Given the description of an element on the screen output the (x, y) to click on. 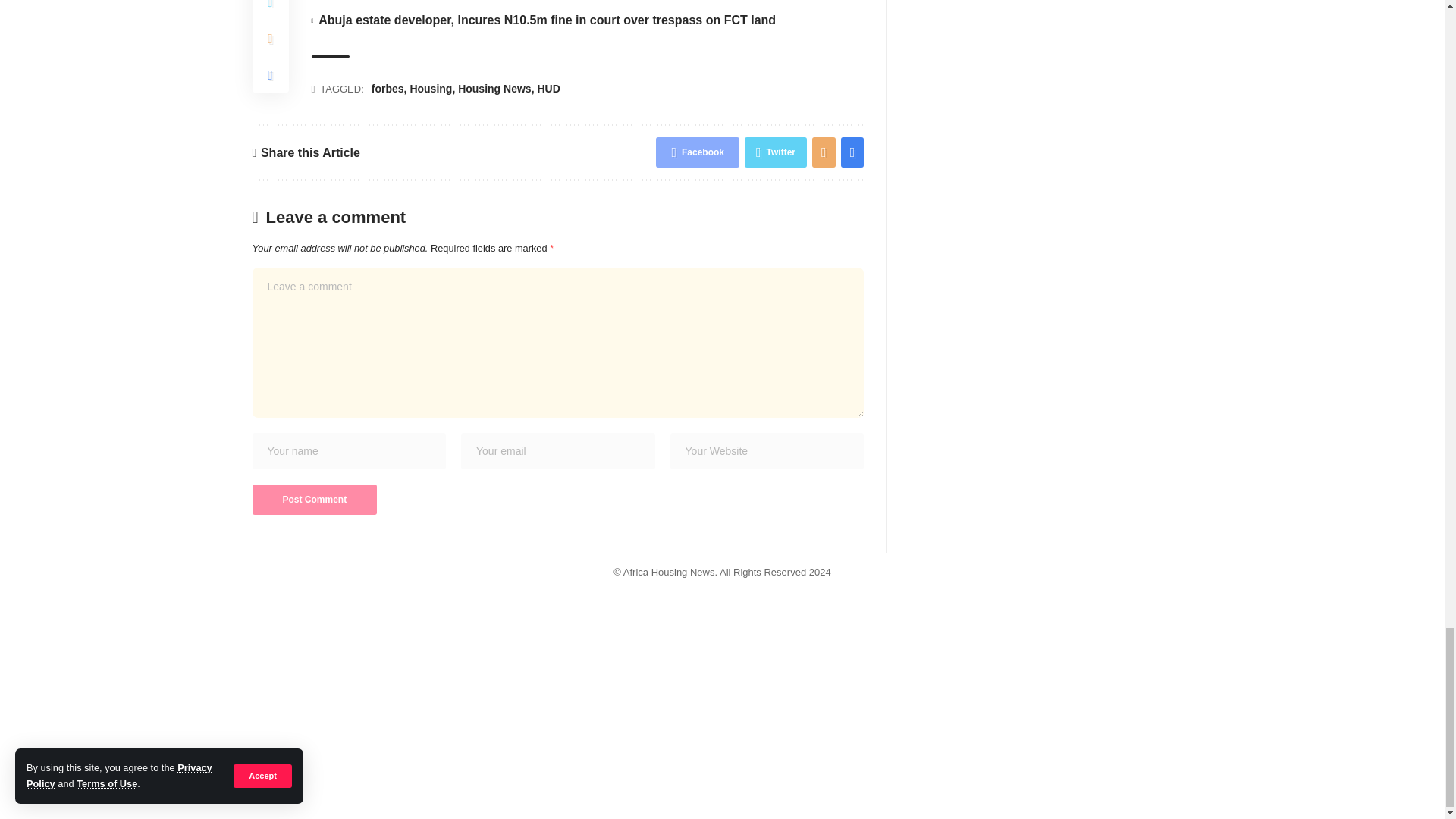
Post Comment (314, 499)
